Given the description of an element on the screen output the (x, y) to click on. 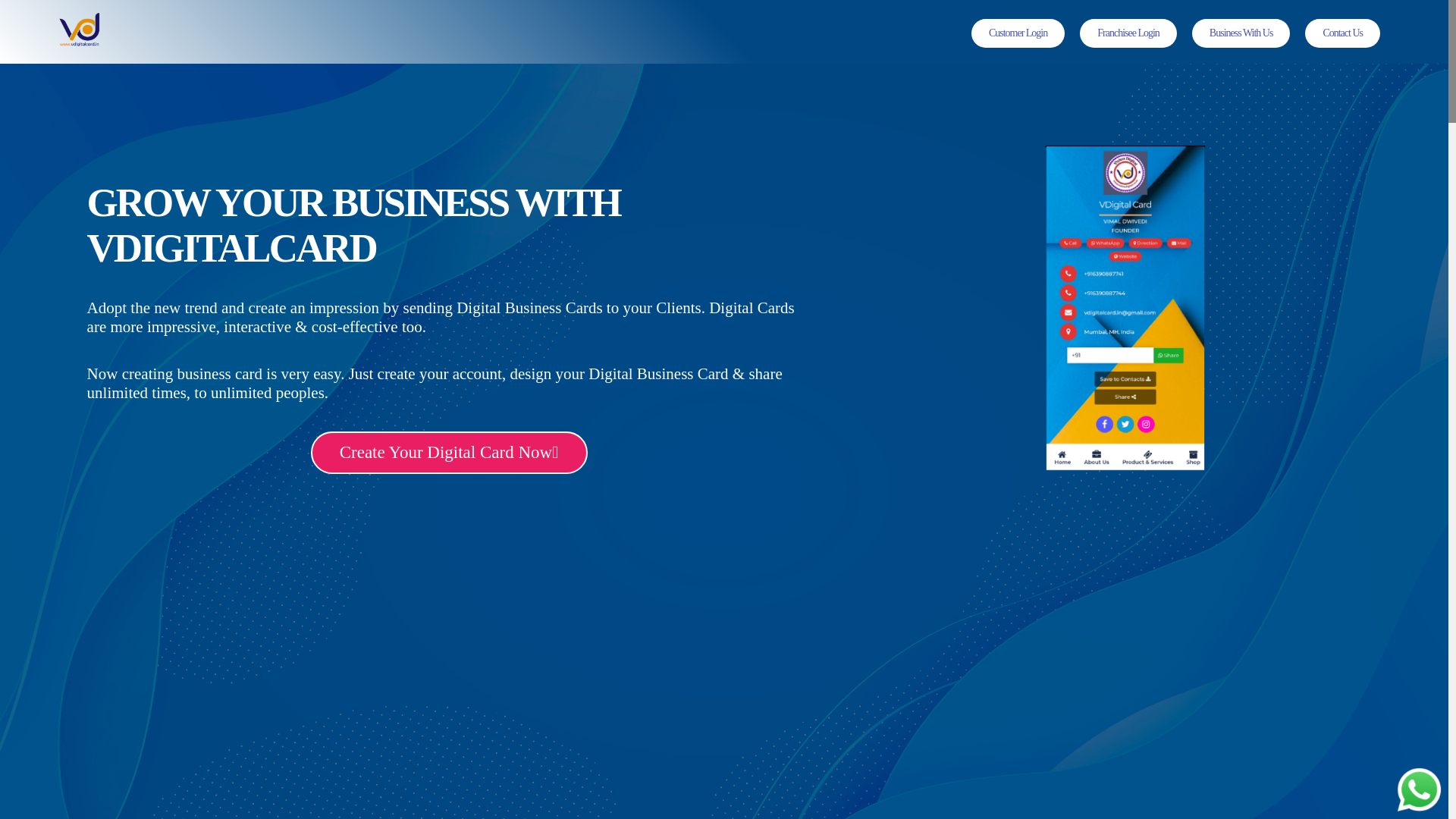
Business With Us (1241, 33)
Create Your Digital Card Now (448, 452)
Contact Us (1342, 33)
Customer Login (1017, 33)
Franchisee Login (1128, 33)
